Given the description of an element on the screen output the (x, y) to click on. 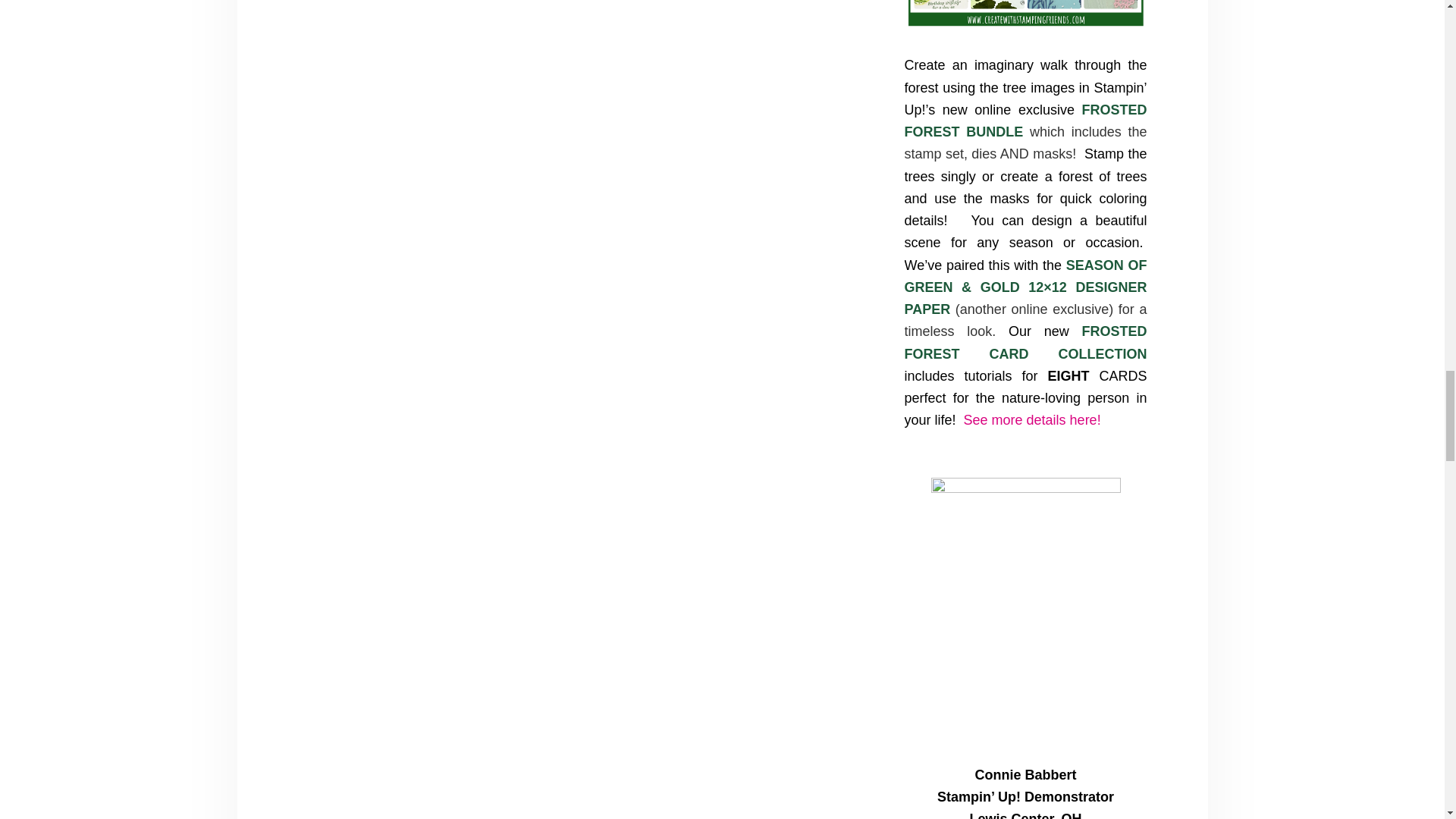
See more details here! (1029, 419)
